Given the description of an element on the screen output the (x, y) to click on. 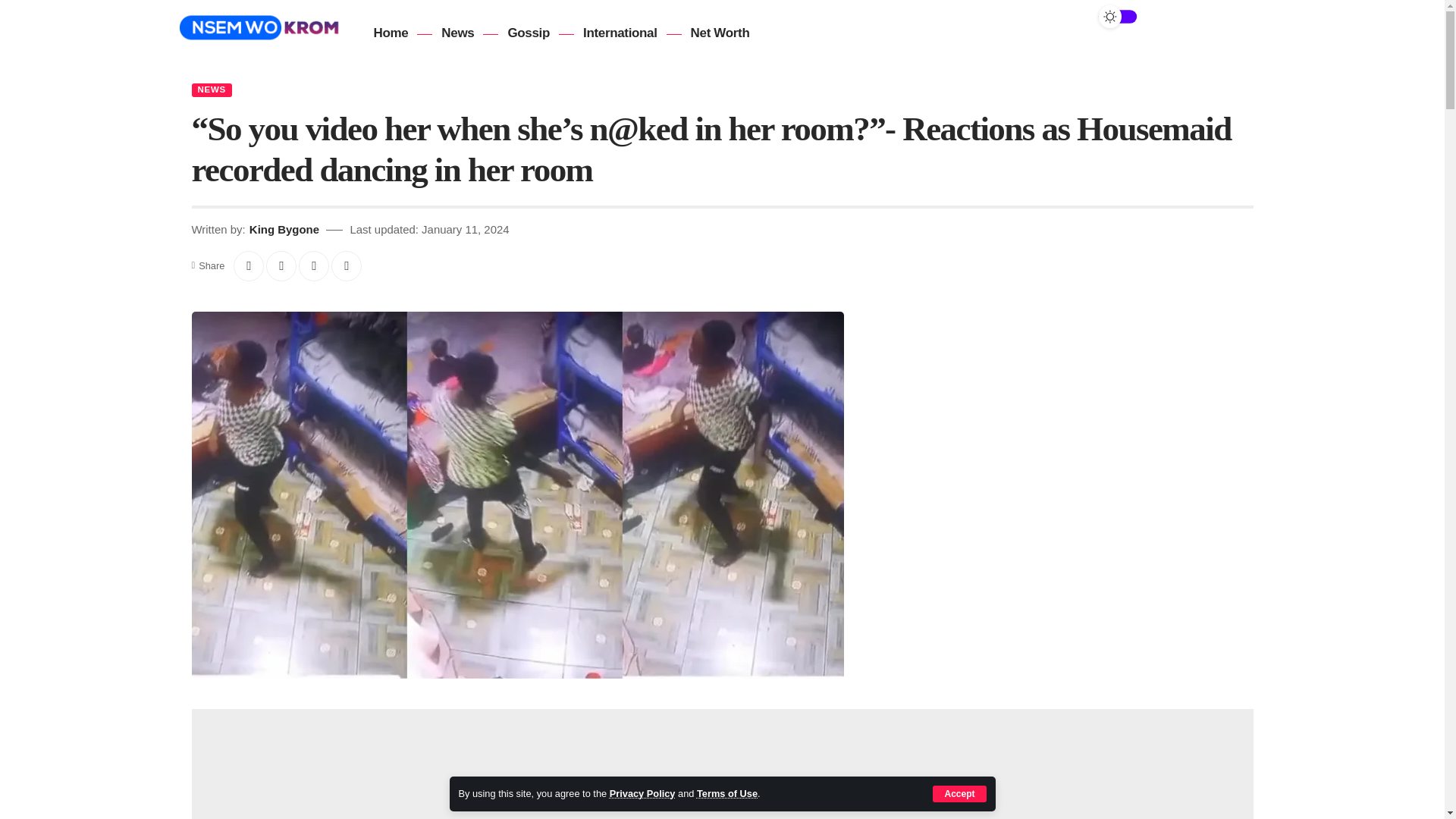
Terms of Use (727, 793)
King Bygone (283, 229)
Home (390, 33)
Net Worth (719, 33)
Advertisement (721, 764)
Gossip (528, 33)
NEWS (210, 90)
International (619, 33)
Privacy Policy (642, 793)
News (457, 33)
Accept (959, 793)
